Given the description of an element on the screen output the (x, y) to click on. 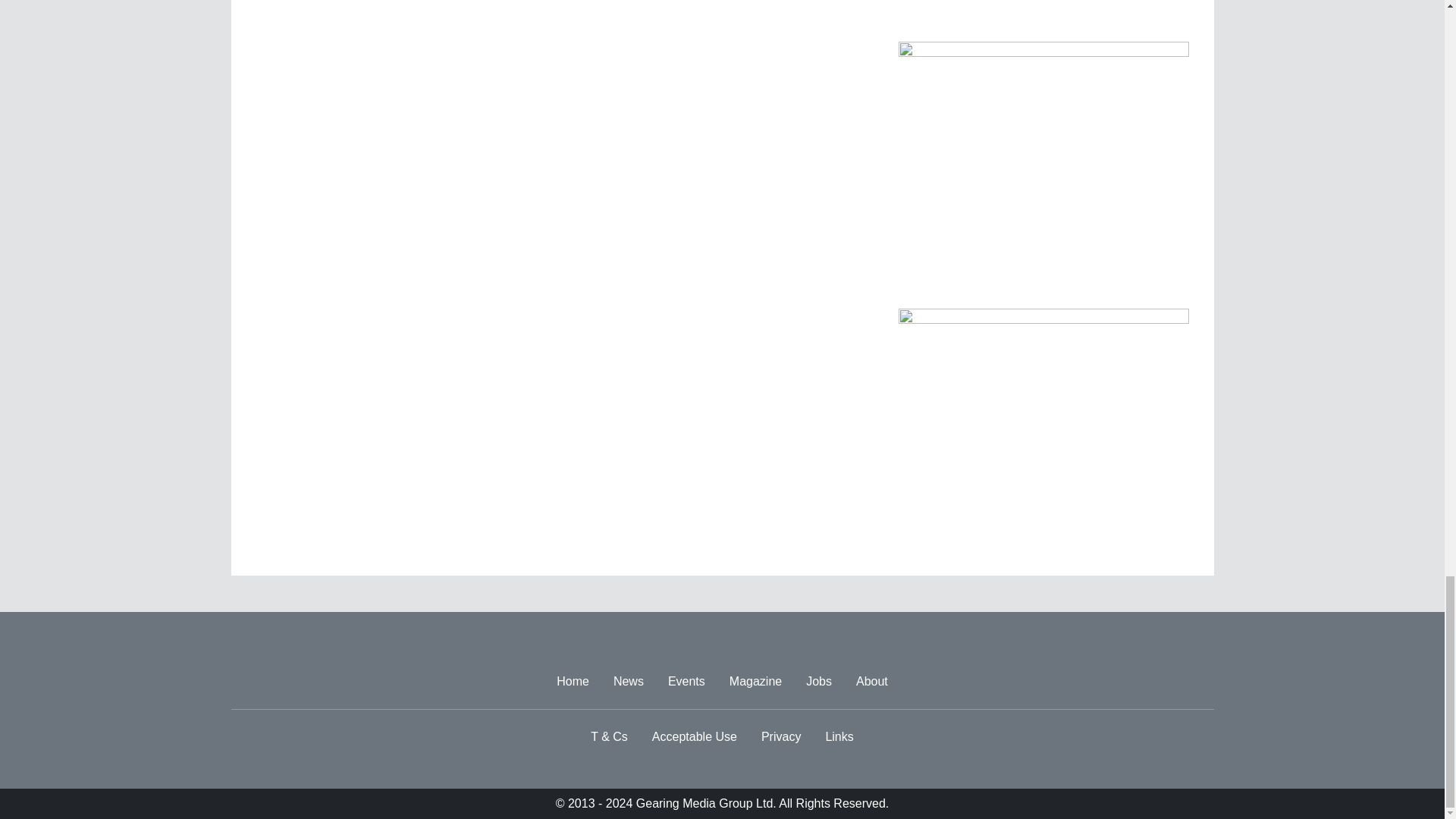
Privacy (780, 736)
Events (686, 681)
Home (572, 681)
Magazine (755, 681)
About (871, 681)
News (628, 681)
Links (838, 736)
Acceptable Use (694, 736)
Jobs (818, 681)
